Given the description of an element on the screen output the (x, y) to click on. 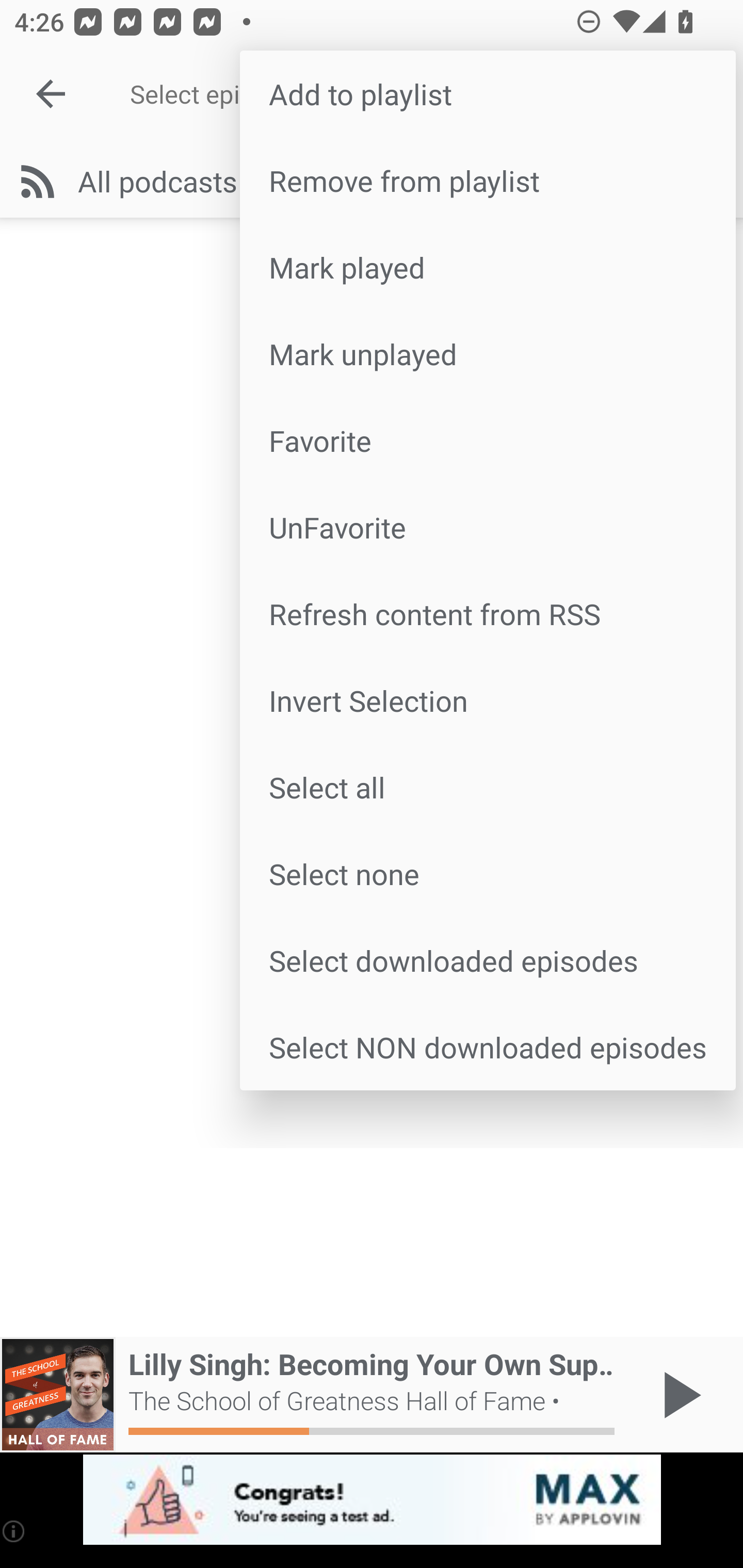
Add to playlist (487, 93)
Remove from playlist (487, 180)
Mark played (487, 267)
Mark unplayed (487, 353)
Favorite (487, 440)
UnFavorite (487, 527)
Refresh content from RSS (487, 613)
Invert Selection (487, 699)
Select all (487, 787)
Select none (487, 874)
Select downloaded episodes (487, 960)
Select NON downloaded episodes (487, 1046)
